Given the description of an element on the screen output the (x, y) to click on. 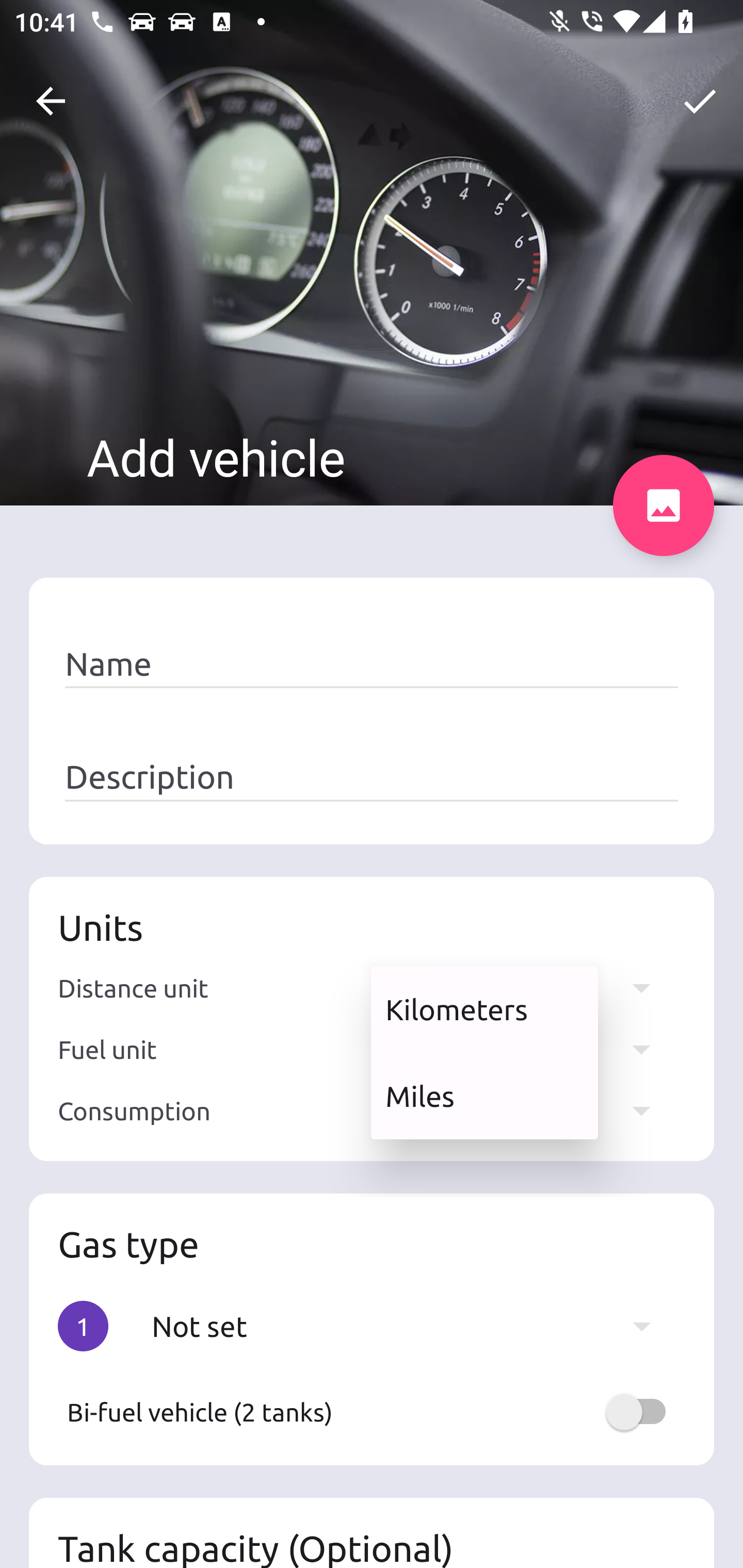
Kilometers (484, 1008)
Miles (484, 1095)
